Given the description of an element on the screen output the (x, y) to click on. 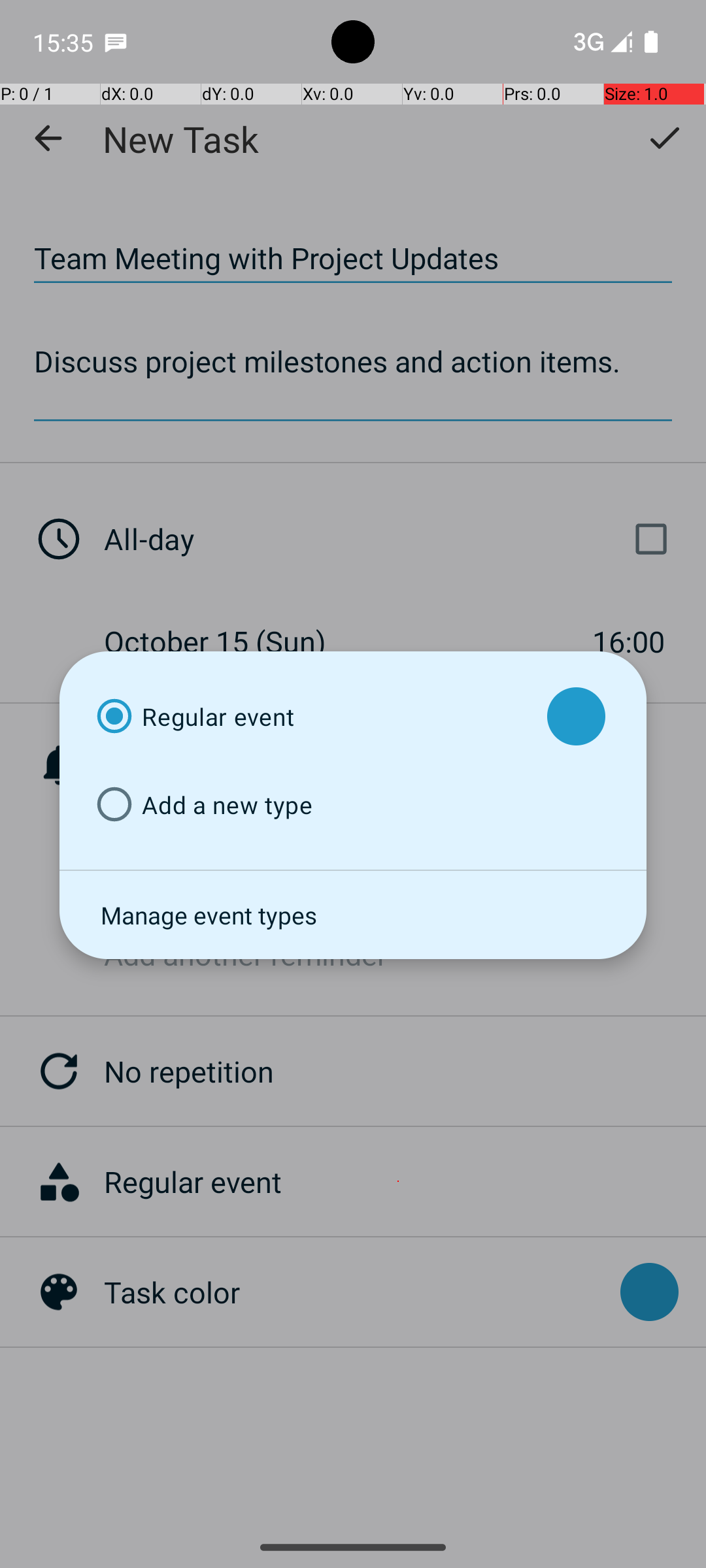
Manage event types Element type: android.widget.TextView (352, 914)
Add a new type Element type: android.widget.RadioButton (309, 804)
